Given the description of an element on the screen output the (x, y) to click on. 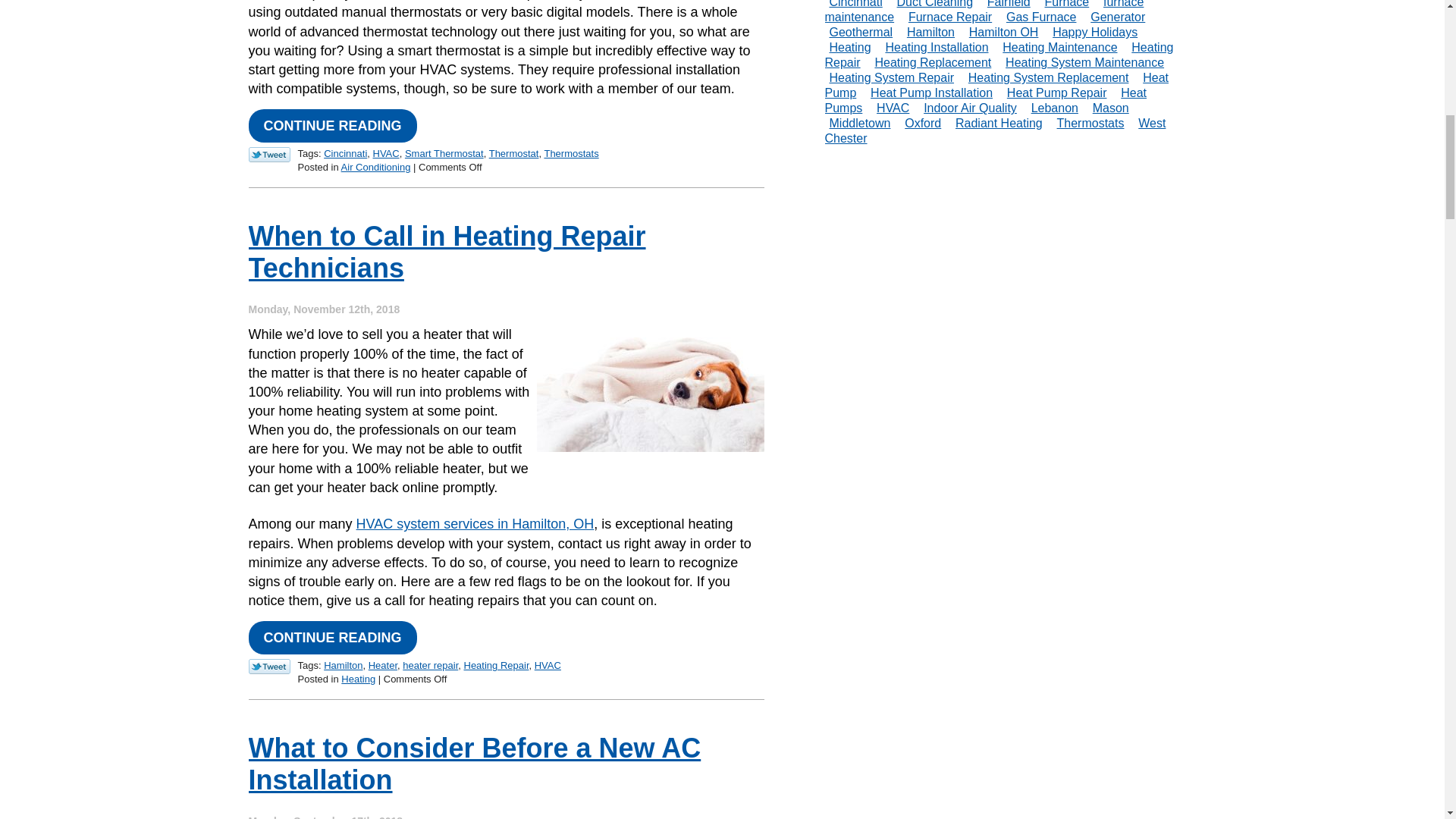
Permanent Link to When to Call in Heating Repair Technicians (447, 251)
Permanent Link to When to Call in Heating Repair Technicians (332, 637)
